Given the description of an element on the screen output the (x, y) to click on. 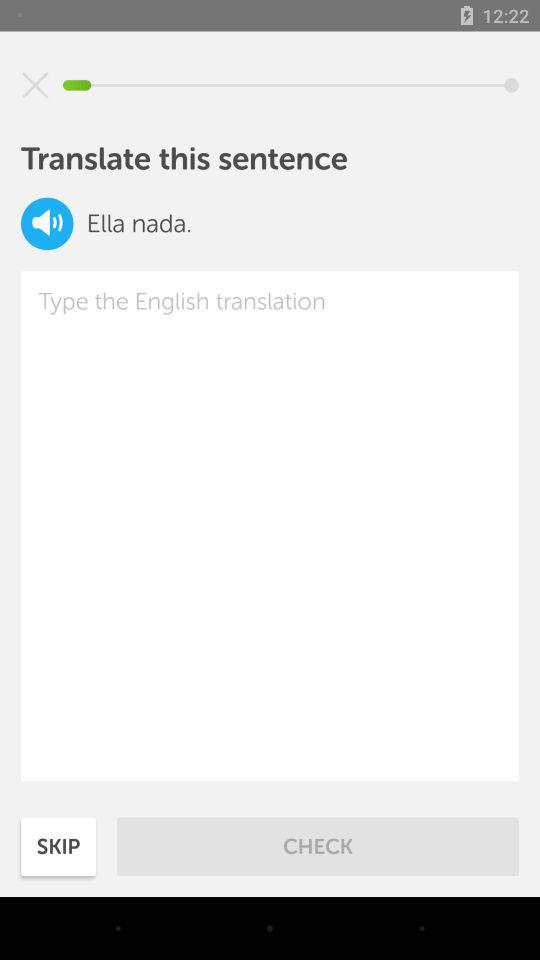
exit out of page (35, 85)
